Given the description of an element on the screen output the (x, y) to click on. 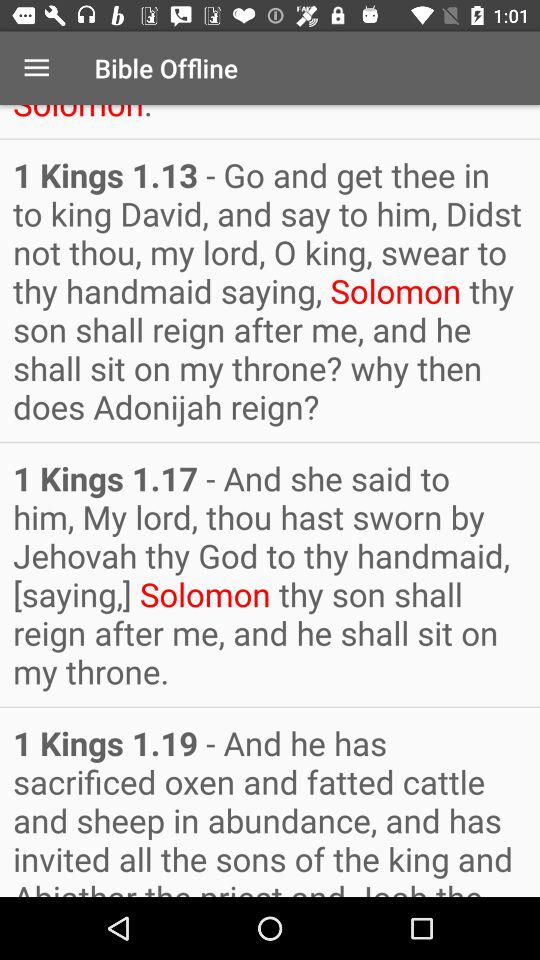
turn on item next to the bible offline (36, 68)
